Given the description of an element on the screen output the (x, y) to click on. 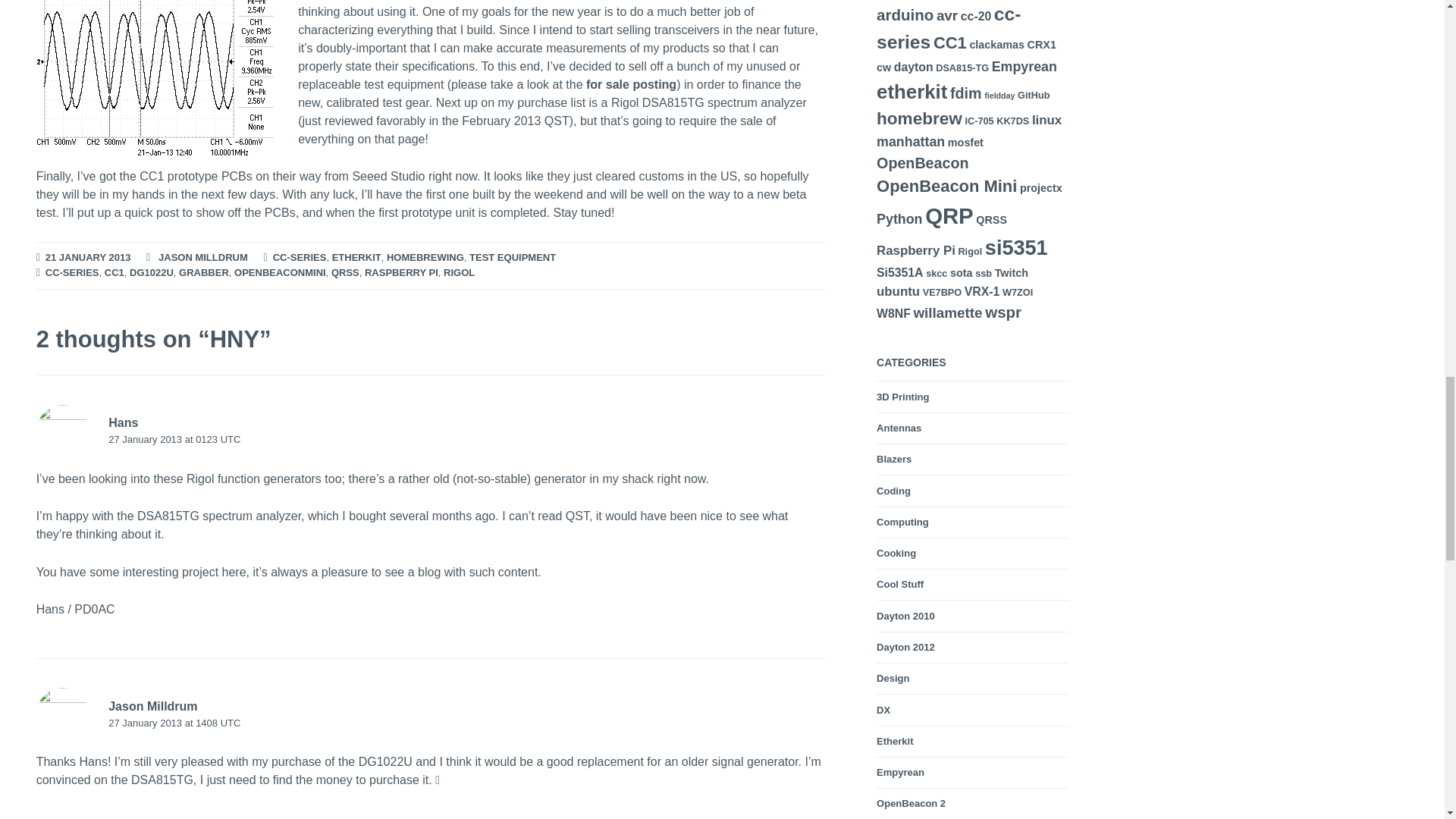
DG1022U (151, 273)
JASON MILLDRUM (202, 257)
For Sale (631, 84)
RASPBERRY PI (401, 273)
HOMEBREWING (425, 257)
QRSS (345, 273)
Hans (122, 422)
CC-SERIES (72, 273)
TEST EQUIPMENT (512, 257)
OPENBEACONMINI (280, 273)
